Given the description of an element on the screen output the (x, y) to click on. 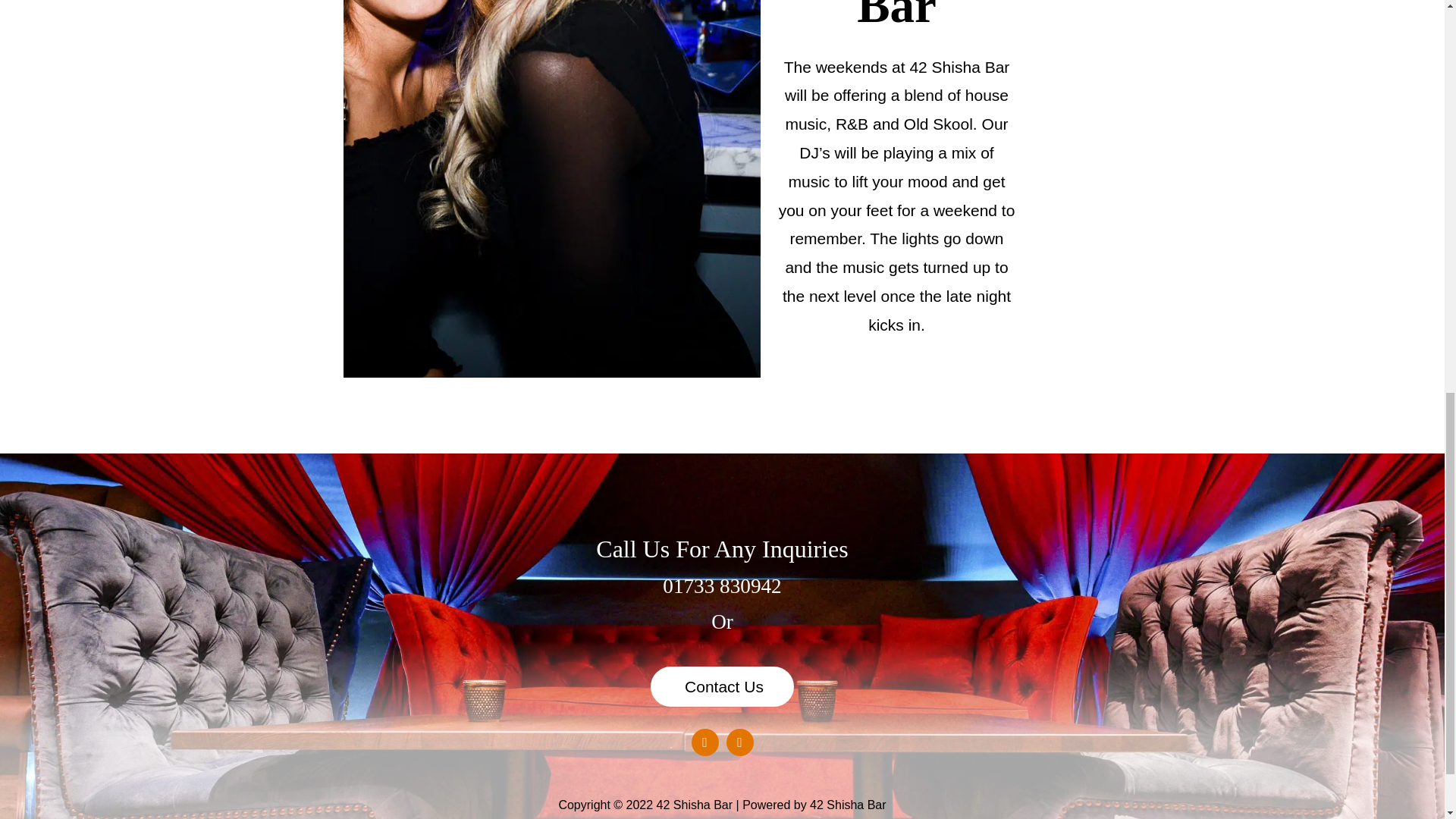
Facebook-f (705, 741)
Contact Us (721, 686)
Instagram (740, 741)
